Given the description of an element on the screen output the (x, y) to click on. 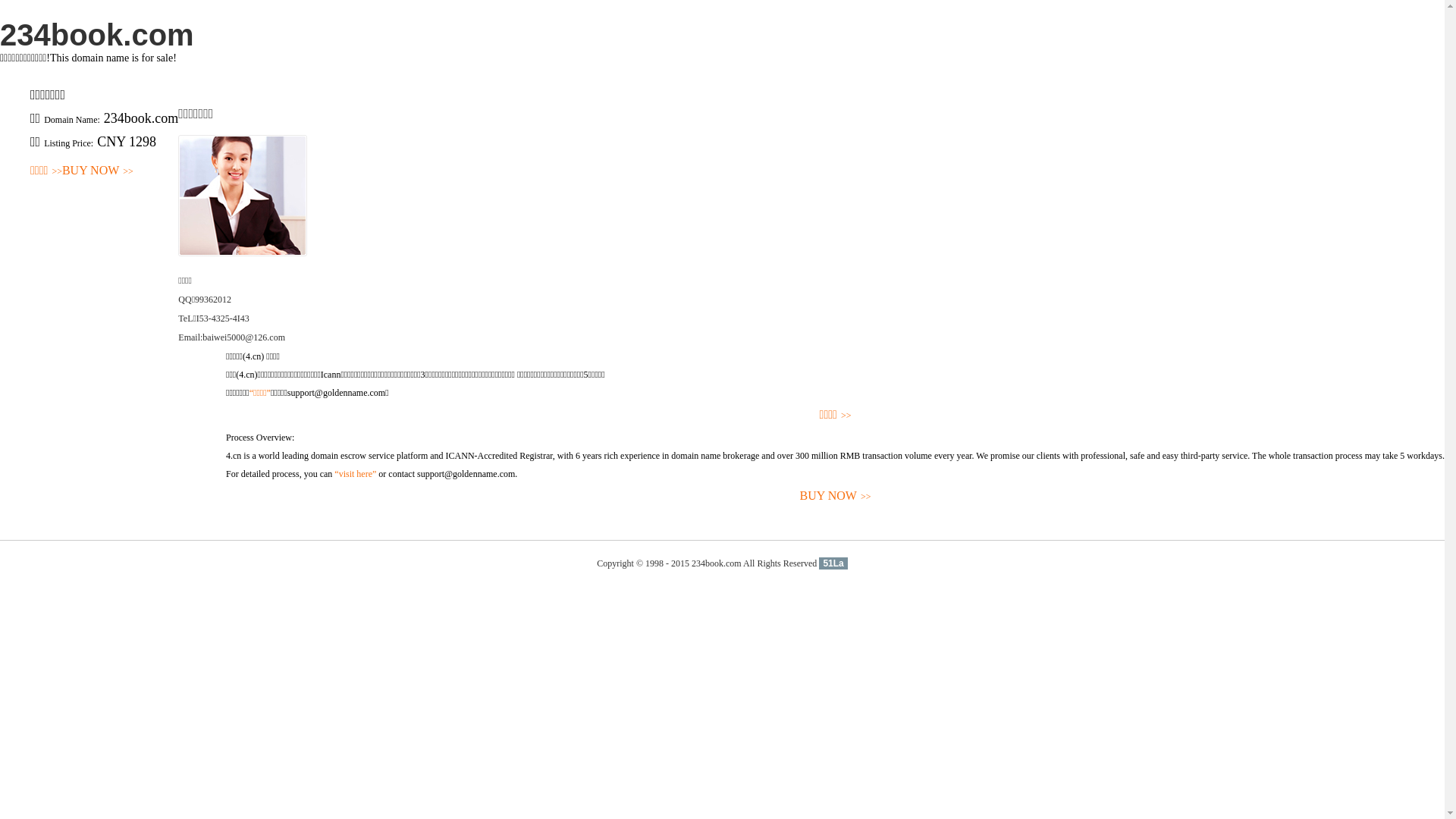
51La Element type: text (833, 563)
BUY NOW>> Element type: text (834, 496)
BUY NOW>> Element type: text (97, 170)
